Given the description of an element on the screen output the (x, y) to click on. 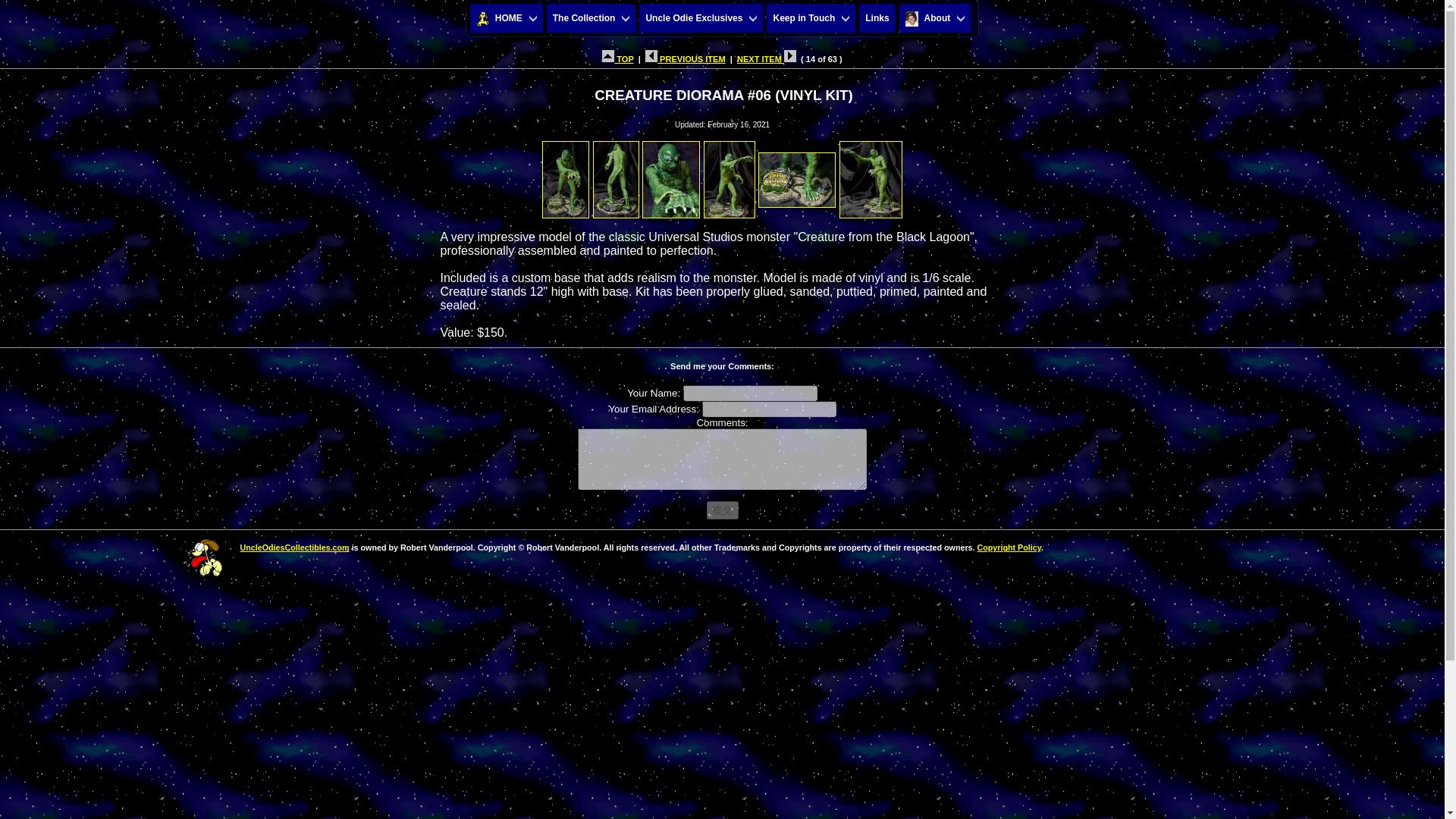
HOME (506, 18)
2 - Creature Diorama 6 02 2-22-8.jpg (615, 174)
6 - Creature Diorama 6 06 2-16-21.jpg (871, 174)
The Collection (591, 18)
1 - 01 Creature Diorama 6 01 2-16-21.jpg (565, 174)
4 - Creature Diorama 6 04 2-16-21.jpg (729, 174)
3 - Creature Diorama 6 03 2-22-8.jpg (671, 174)
5 - Creature Diorama 6 05 2-22-8.jpg (796, 174)
